Given the description of an element on the screen output the (x, y) to click on. 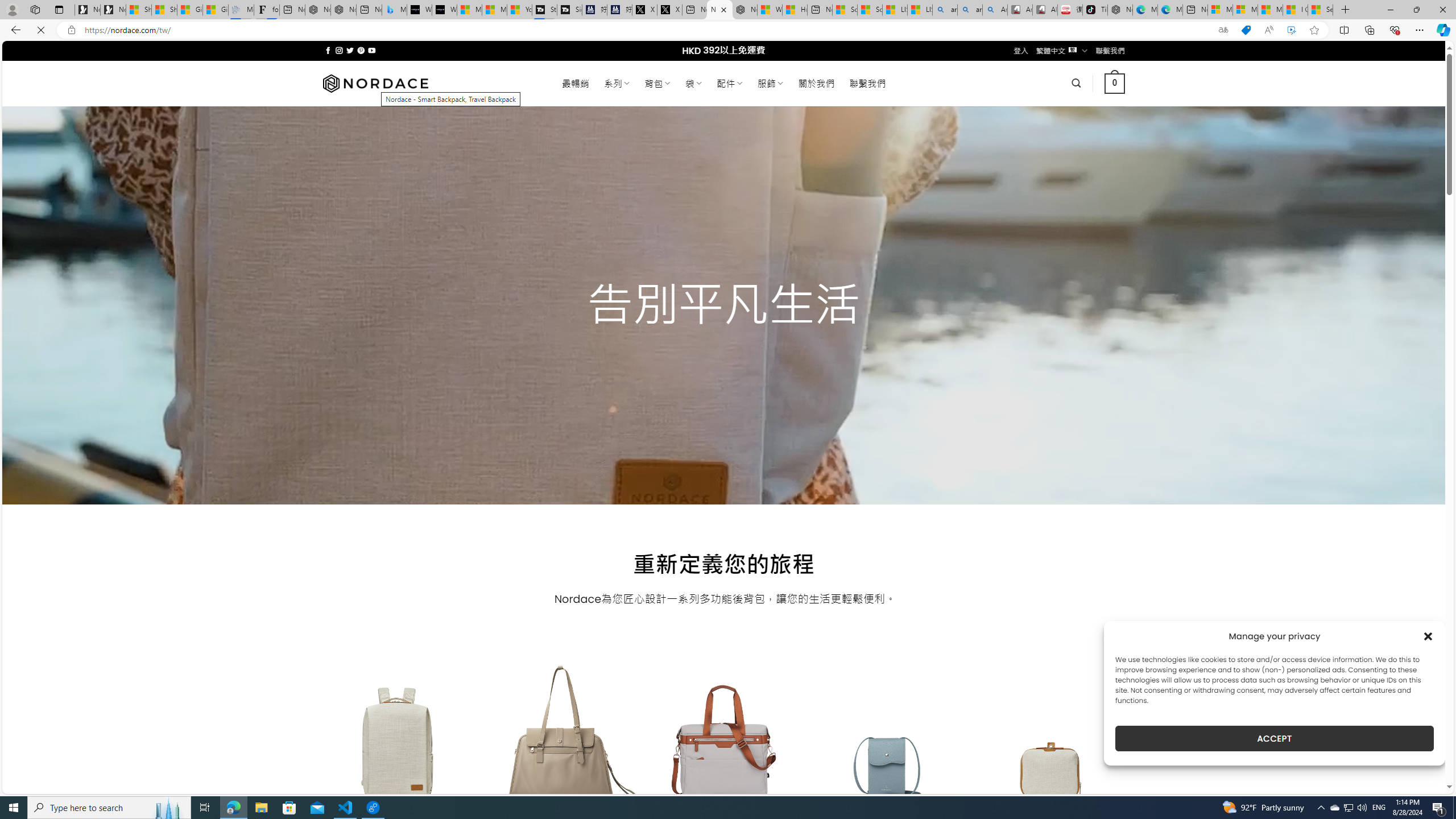
All Cubot phones (1044, 9)
This site has coupons! Shopping in Microsoft Edge (1245, 29)
I Gained 20 Pounds of Muscle in 30 Days! | Watch (1295, 9)
Amazon Echo Robot - Search Images (993, 9)
Gilma and Hector both pose tropical trouble for Hawaii (215, 9)
Shanghai, China weather forecast | Microsoft Weather (164, 9)
